Given the description of an element on the screen output the (x, y) to click on. 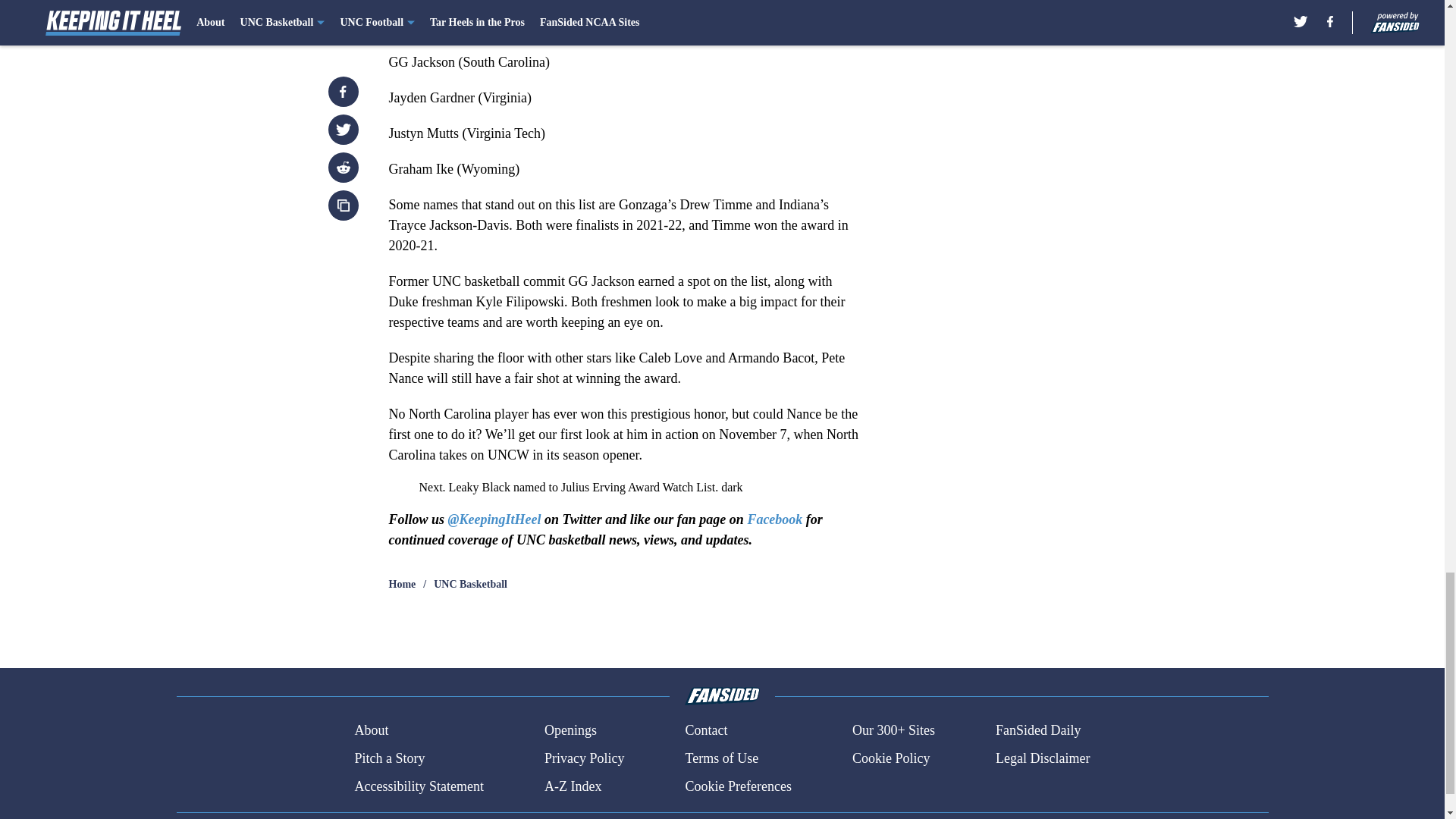
About (370, 730)
Cookie Policy (890, 758)
Legal Disclaimer (1042, 758)
Terms of Use (721, 758)
Contact (705, 730)
Privacy Policy (584, 758)
Home (401, 584)
UNC Basketball (469, 584)
Openings (570, 730)
Facebook (774, 519)
